Given the description of an element on the screen output the (x, y) to click on. 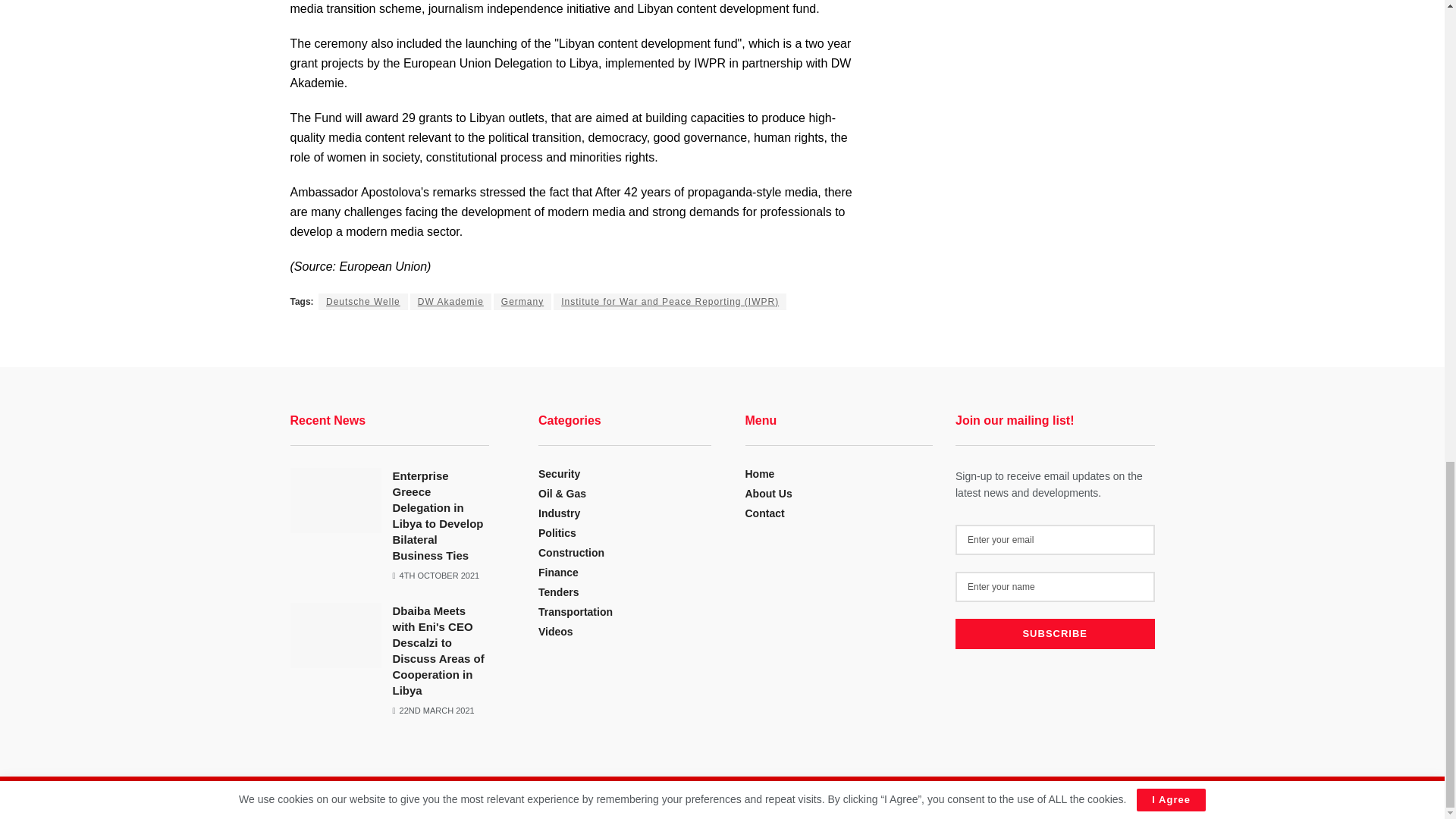
DW Akademie (451, 300)
Germany (522, 300)
Enter your email (1054, 539)
Subscribe (1054, 634)
Enter your name (1054, 586)
Deutsche Welle (362, 300)
Libya Business News (384, 800)
